Given the description of an element on the screen output the (x, y) to click on. 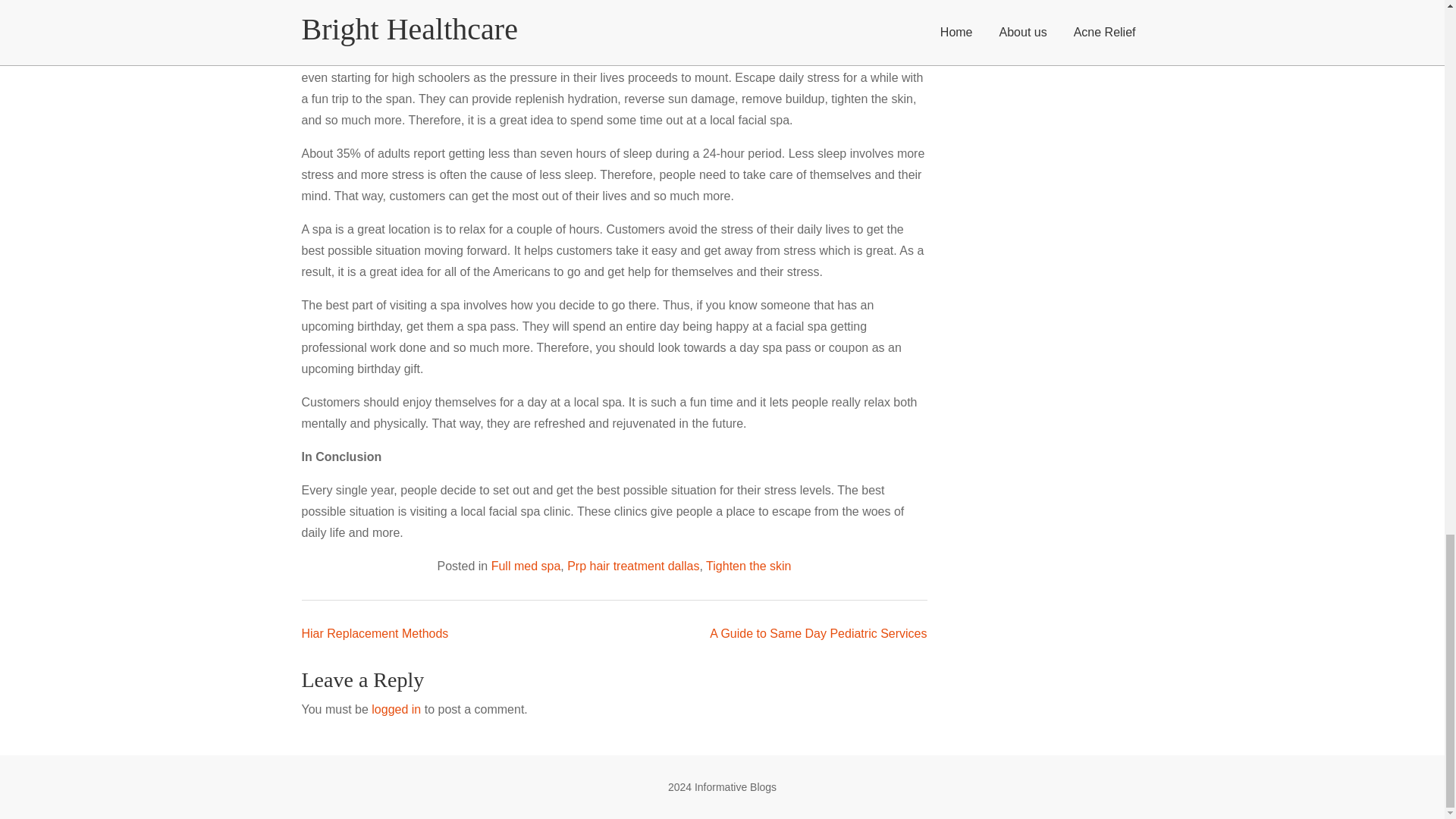
Procedures the Best Cosmetic Dermatologists Recommend (179, 558)
Saturday (89, 653)
18 (59, 703)
Full med spa (84, 317)
17 (44, 703)
Thursday (59, 653)
Prp hair treatment dallas (181, 317)
medical spa (515, 4)
Hiar Replacement Methods (72, 381)
Asbestosis: Causes, Symptoms, Management, and Prevention (186, 572)
Tighten the skin (285, 317)
Wednesday (43, 653)
15 (14, 703)
Friday (74, 653)
